Given the description of an element on the screen output the (x, y) to click on. 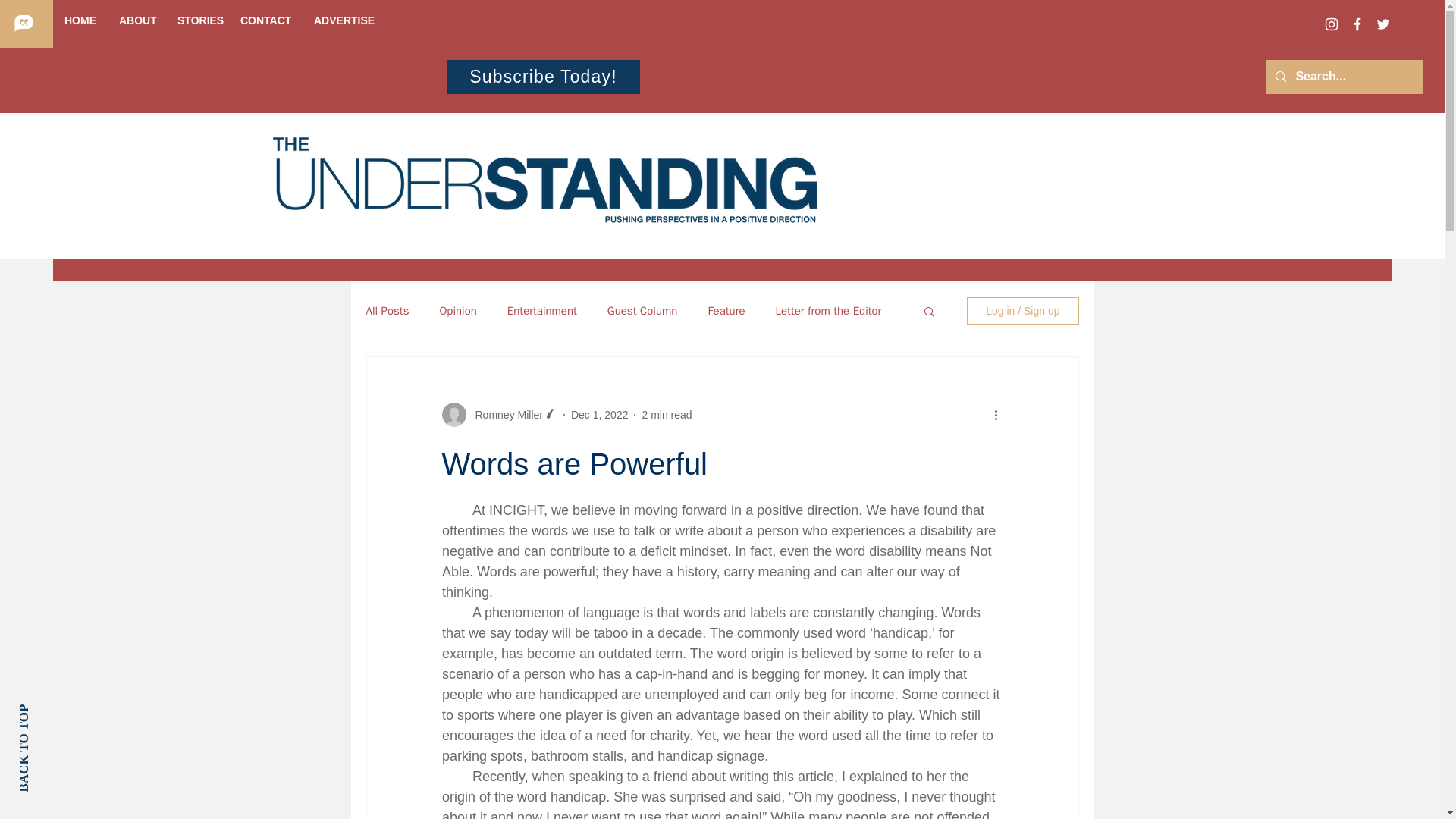
HOME (79, 20)
Opinion (457, 310)
ABOUT (136, 20)
Subscribe Today! (543, 76)
Romney Miller (503, 414)
Feature (725, 310)
2 min read (666, 413)
Letter from the Editor (829, 310)
All Posts (387, 310)
CONTACT (265, 20)
